Given the description of an element on the screen output the (x, y) to click on. 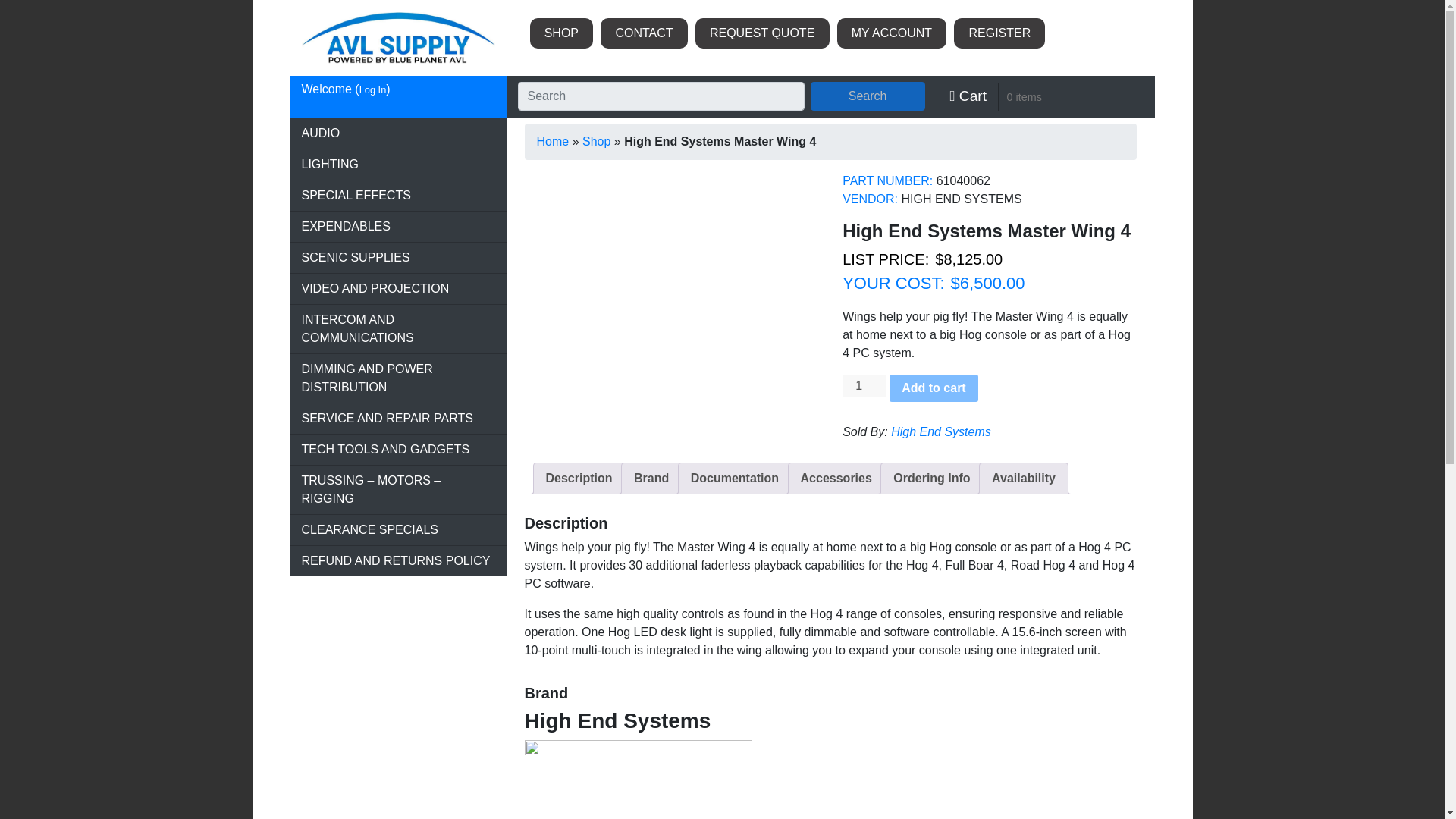
LIGHTING (397, 164)
Availability (1023, 478)
1 (864, 385)
SERVICE AND REPAIR PARTS (397, 418)
DIMMING AND POWER DISTRIBUTION (397, 377)
Documentation (734, 478)
REFUND AND RETURNS POLICY (397, 561)
Request Quote (762, 33)
TECH TOOLS AND GADGETS (397, 449)
Home (553, 141)
Contact (643, 33)
Shop (560, 33)
Add to cart (932, 388)
AUDIO (397, 132)
My Account (892, 33)
